Given the description of an element on the screen output the (x, y) to click on. 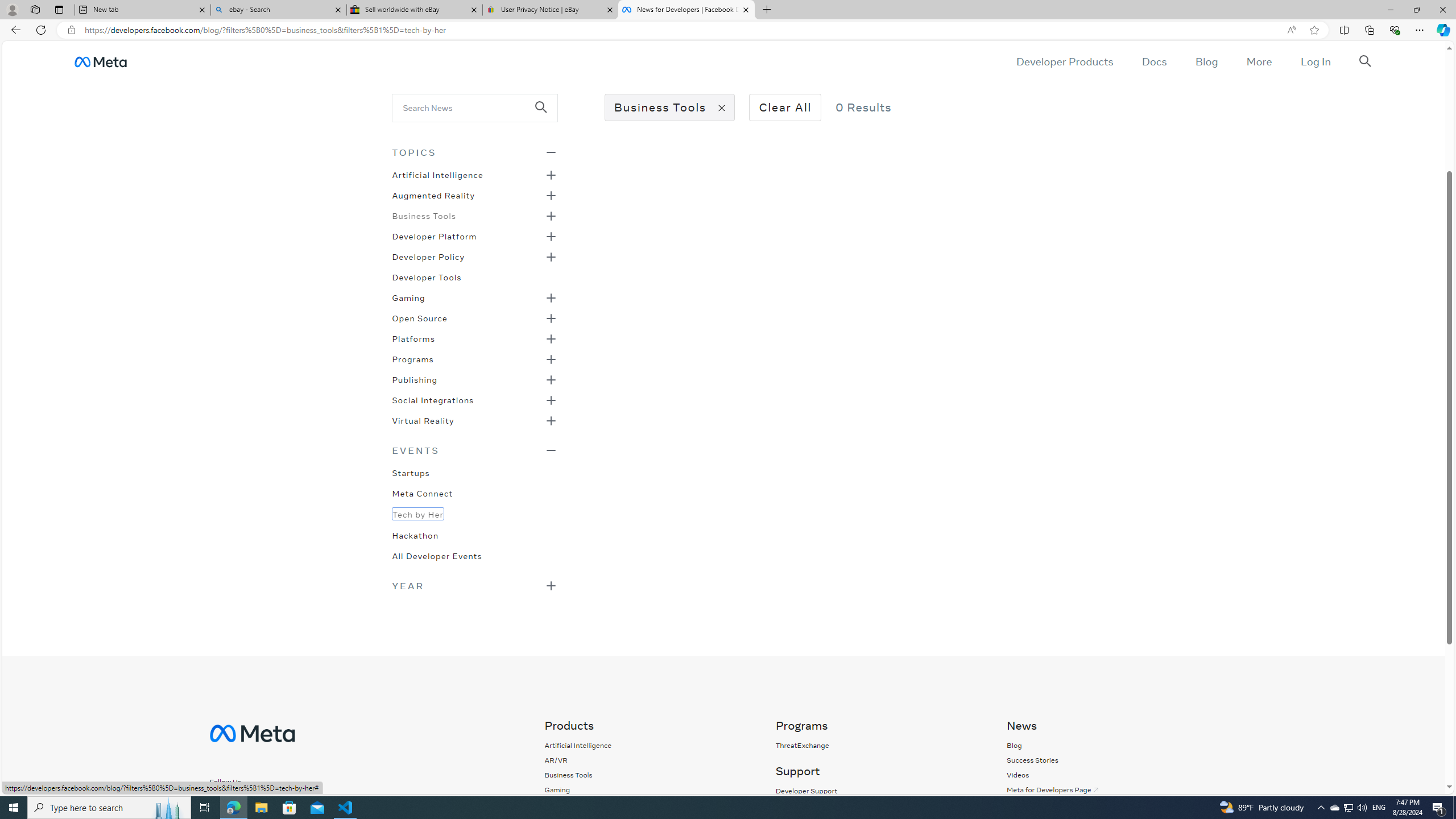
Tech by Her (417, 513)
Gaming (557, 789)
Class: _98ex _98ez (474, 423)
ThreatExchange (801, 745)
Class: _8xd- _9ao6 _8zgc (264, 802)
Business Tools (423, 214)
More (1259, 61)
Log In (1315, 61)
Docs (1153, 61)
